Given the description of an element on the screen output the (x, y) to click on. 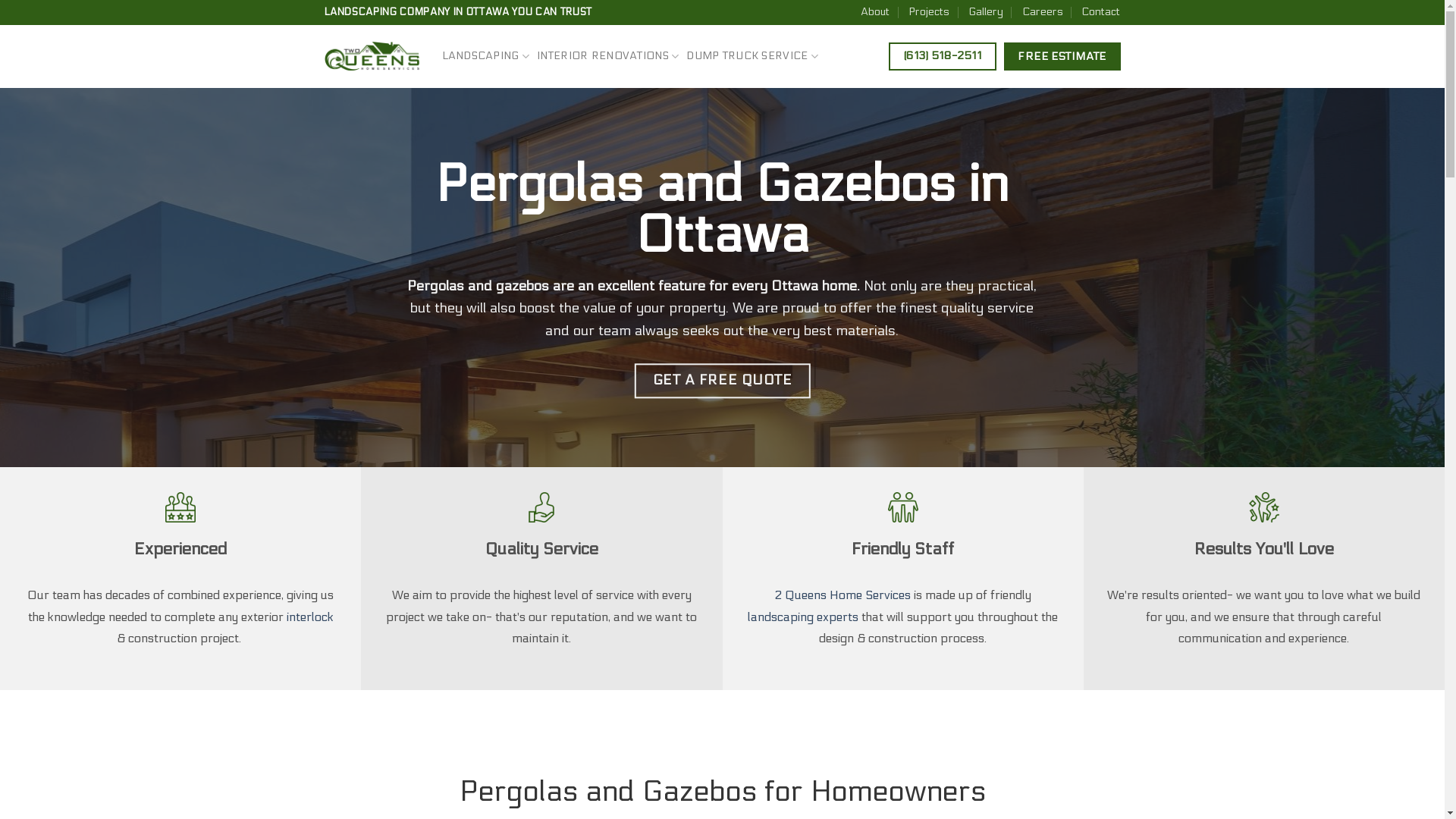
INTERIOR RENOVATIONS Element type: text (607, 56)
Contact Element type: text (1100, 12)
(613) 518-2511 Element type: text (941, 56)
Gallery Element type: text (985, 12)
landscaping experts Element type: text (802, 616)
DUMP TRUCK SERVICE Element type: text (752, 56)
Projects Element type: text (928, 12)
GET A FREE QUOTE Element type: text (721, 380)
FREE ESTIMATE Element type: text (1062, 56)
LANDSCAPING Element type: text (485, 56)
Careers Element type: text (1042, 12)
About Element type: text (874, 12)
2 Queens Home Services Element type: text (842, 594)
interlock Element type: text (309, 616)
